Given the description of an element on the screen output the (x, y) to click on. 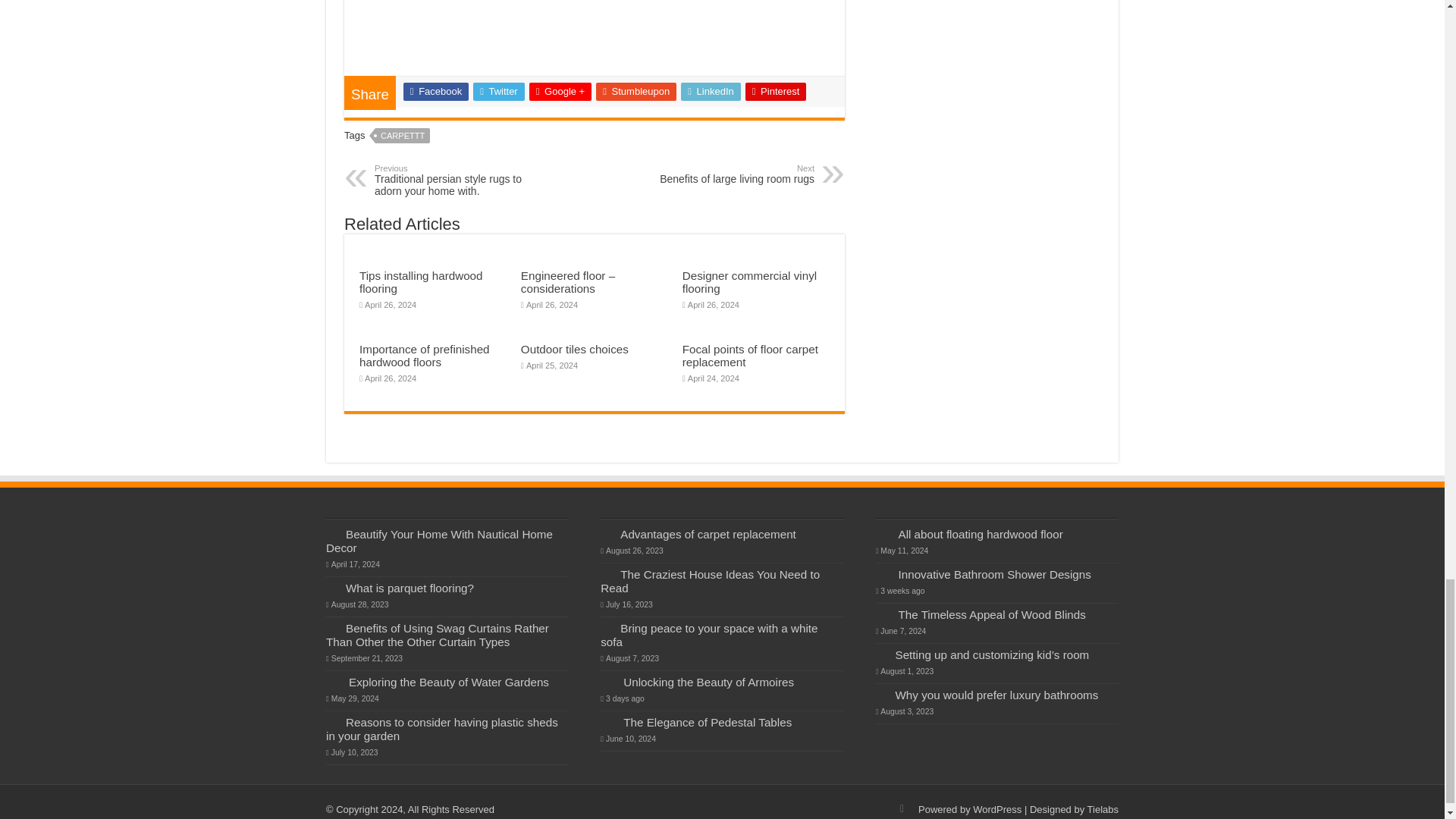
Facebook (435, 91)
Twitter (498, 91)
